Given the description of an element on the screen output the (x, y) to click on. 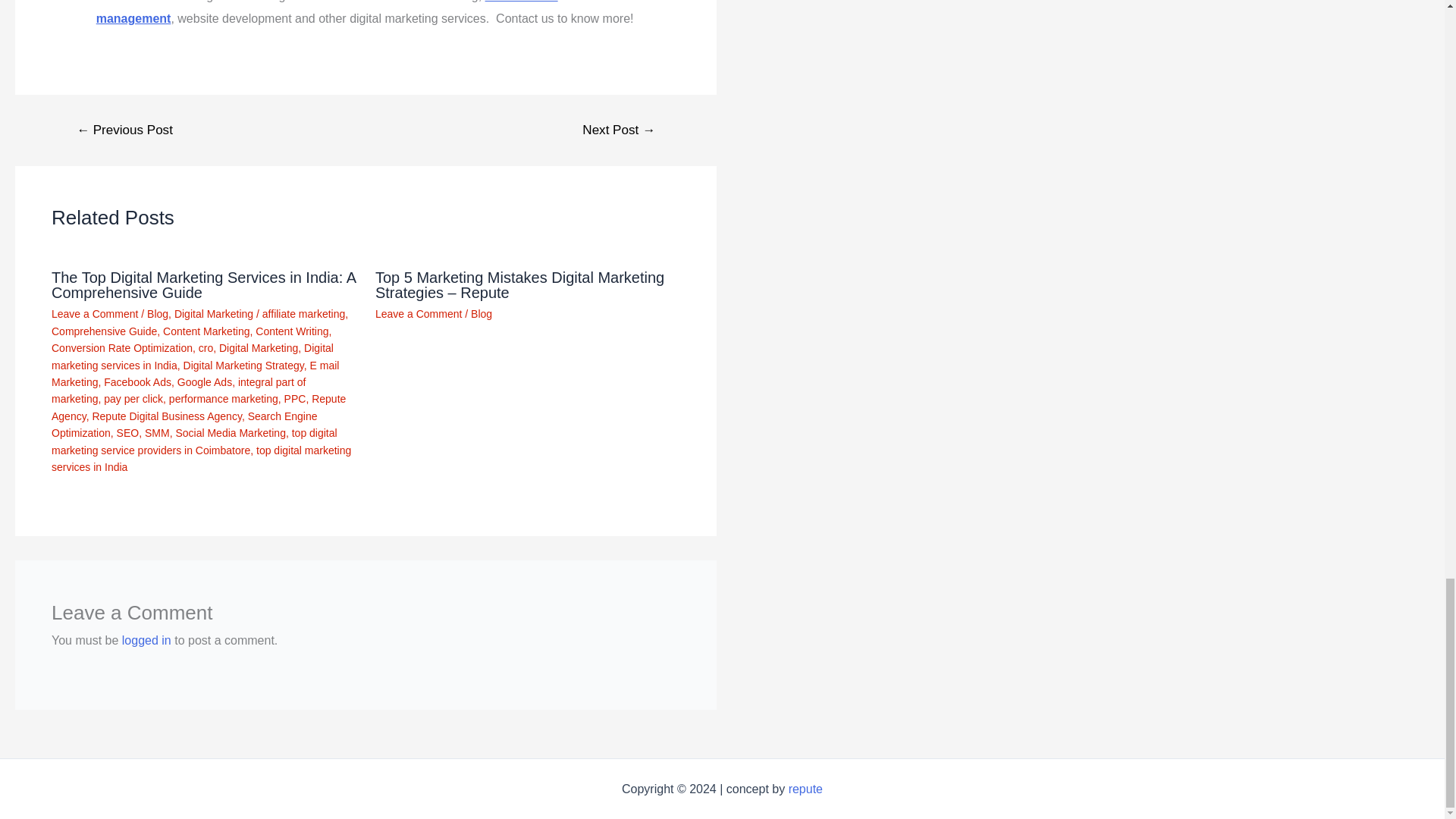
Digital Marketing Strategy (243, 365)
E mail Marketing (194, 373)
Digital marketing services in India (191, 356)
Digital Marketing (258, 347)
Leave a Comment (94, 313)
Content Writing (292, 331)
Blog (157, 313)
social media management (326, 12)
cro (205, 347)
affiliate marketing (303, 313)
Facebook Ads (137, 381)
Digital Marketing (213, 313)
Comprehensive Guide (103, 331)
Content Marketing (205, 331)
